Given the description of an element on the screen output the (x, y) to click on. 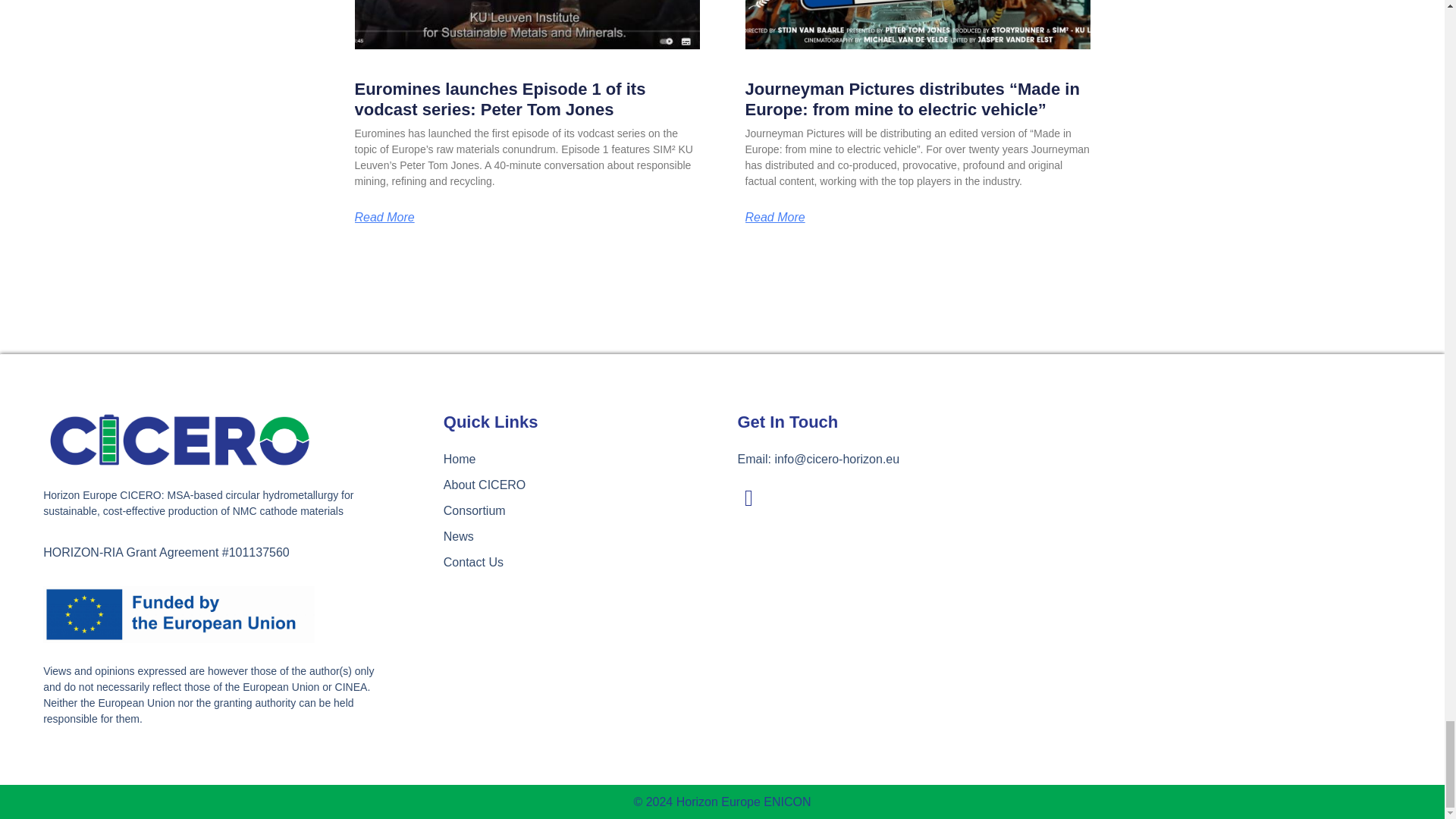
Home (583, 459)
Read More (384, 217)
Read More (774, 217)
News (583, 536)
KU Leuven (1230, 505)
About CICERO (583, 484)
Consortium (583, 511)
Contact Us (583, 562)
